Given the description of an element on the screen output the (x, y) to click on. 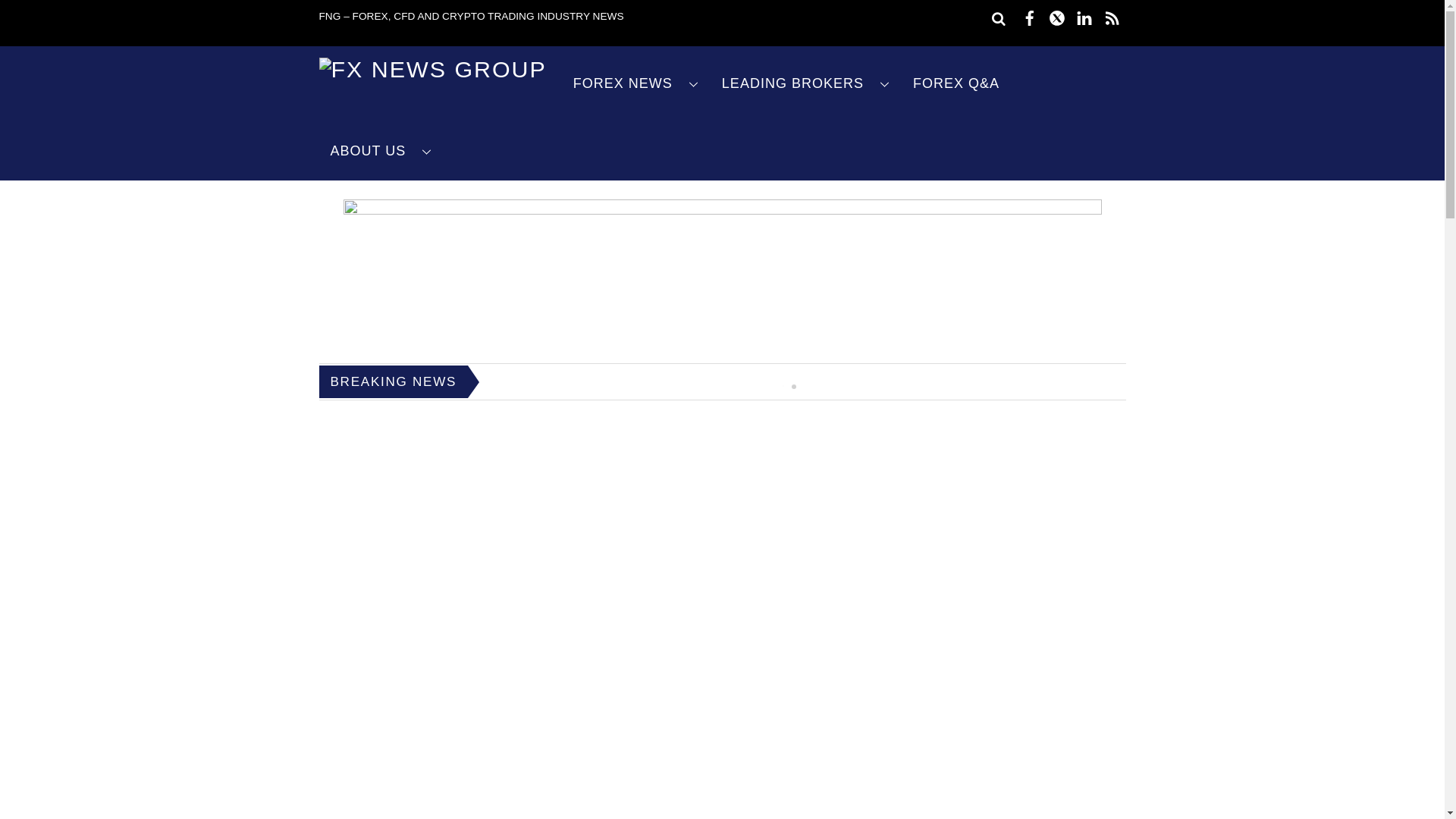
LEADING BROKERS (805, 83)
FOREX NEWS (636, 83)
FX News Group (432, 68)
